Given the description of an element on the screen output the (x, y) to click on. 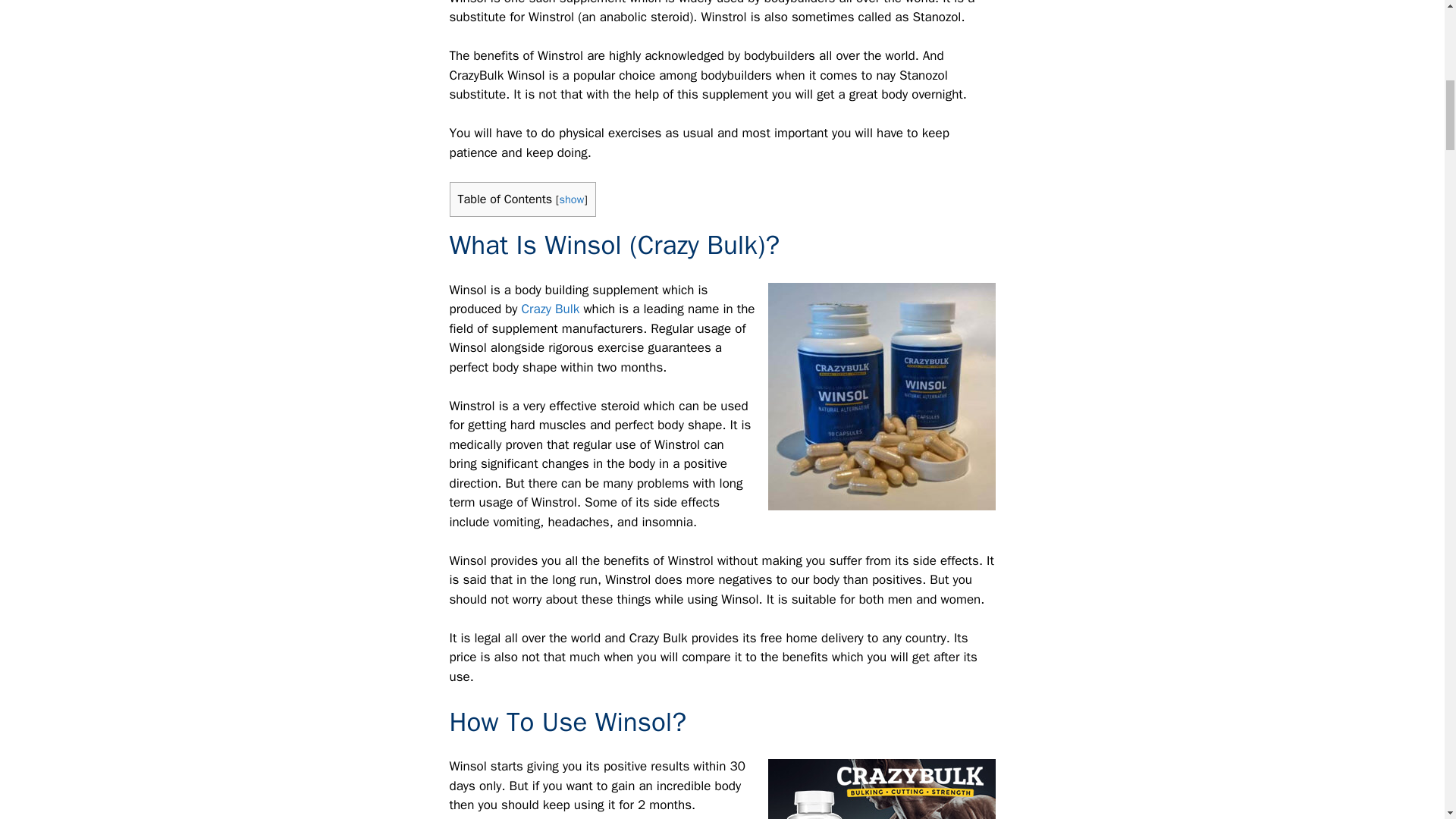
show (571, 199)
Crazy Bulk (550, 308)
